Given the description of an element on the screen output the (x, y) to click on. 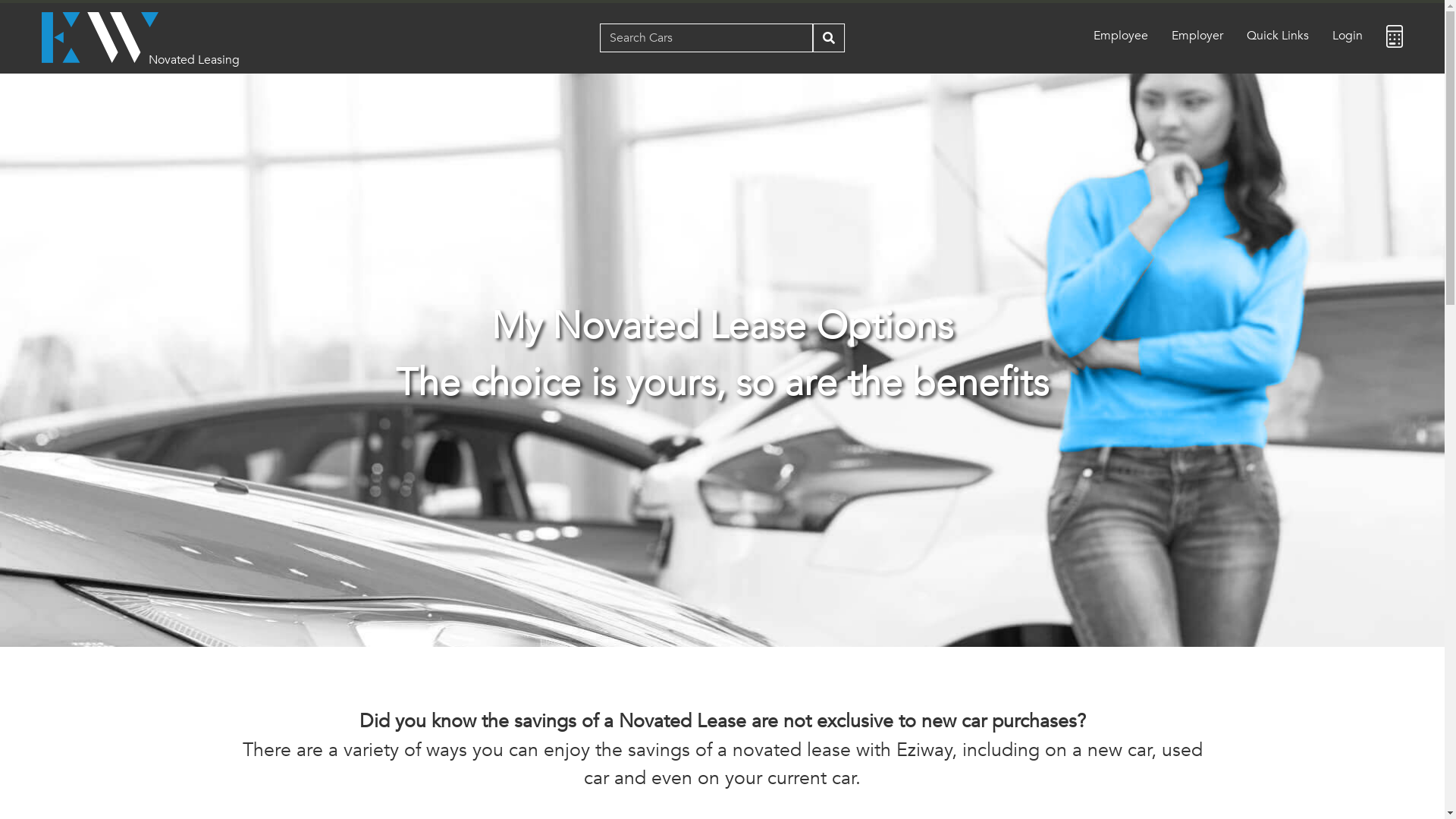
Login Element type: text (1347, 35)
Quick Links Element type: text (1277, 35)
Employee Element type: text (1120, 35)
Employer Element type: text (1197, 35)
